Given the description of an element on the screen output the (x, y) to click on. 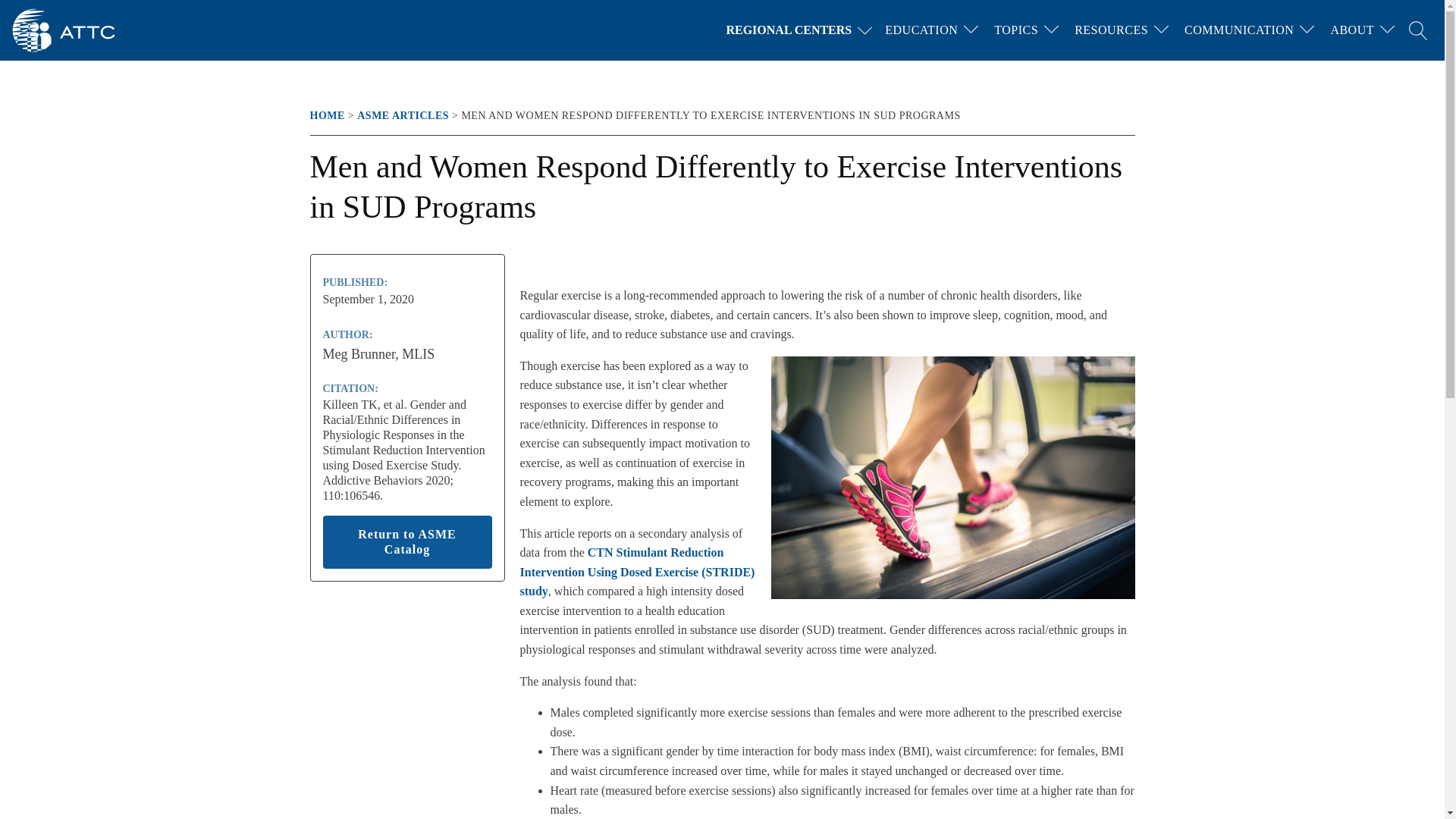
TOPICS (1015, 30)
RESOURCES (1111, 30)
REGIONAL CENTERS (802, 30)
EDUCATION (921, 30)
